Given the description of an element on the screen output the (x, y) to click on. 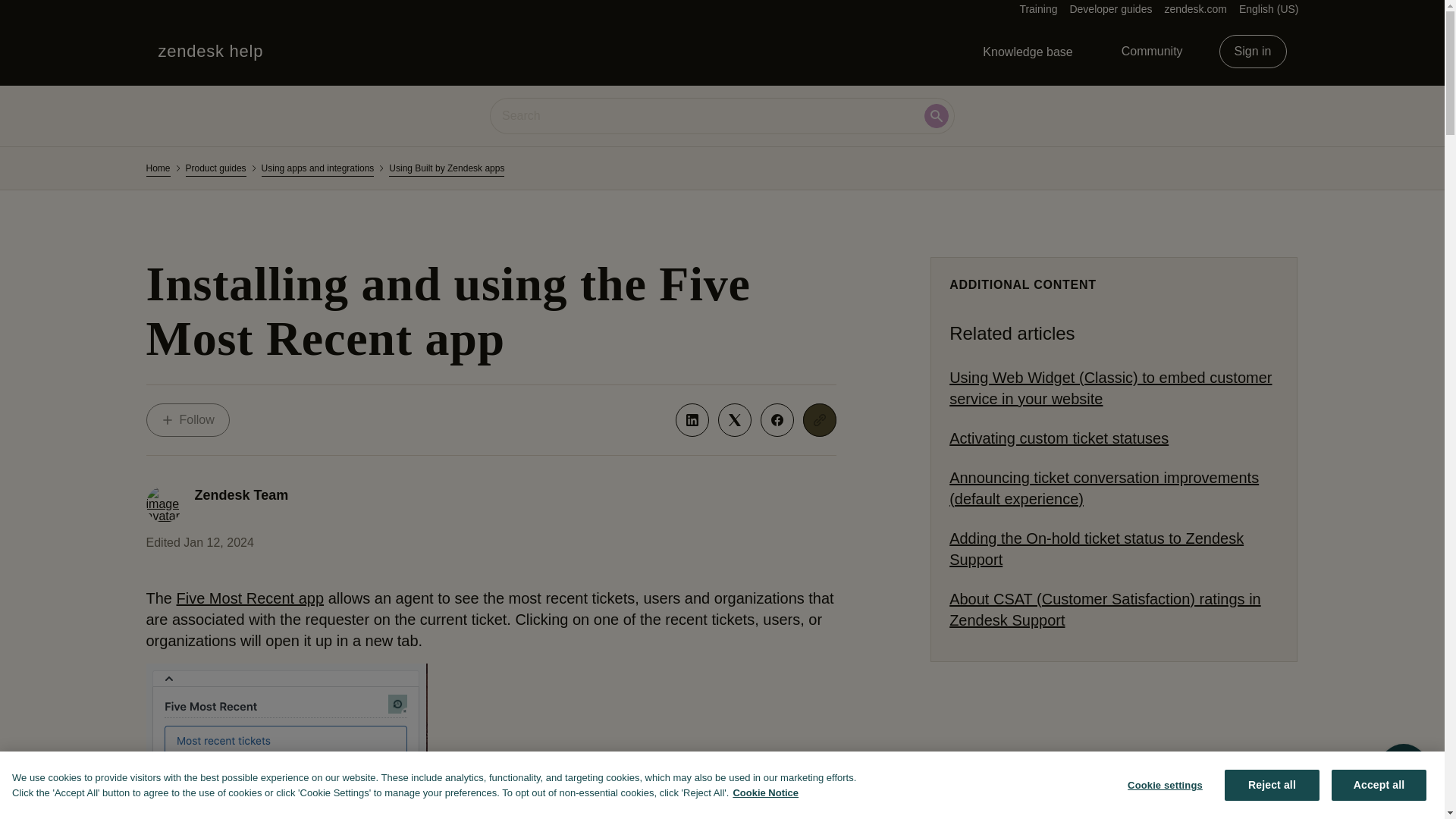
Community (1152, 51)
Product guides (216, 168)
Training (1038, 9)
Sign in (1253, 51)
Zendesk Team (240, 494)
zendesk help (210, 51)
zendesk.com (1194, 9)
Developer guides (1109, 9)
Using apps and integrations (318, 168)
Using Built by Zendesk apps (445, 168)
Home (157, 168)
Five Most Recent app (186, 419)
